Given the description of an element on the screen output the (x, y) to click on. 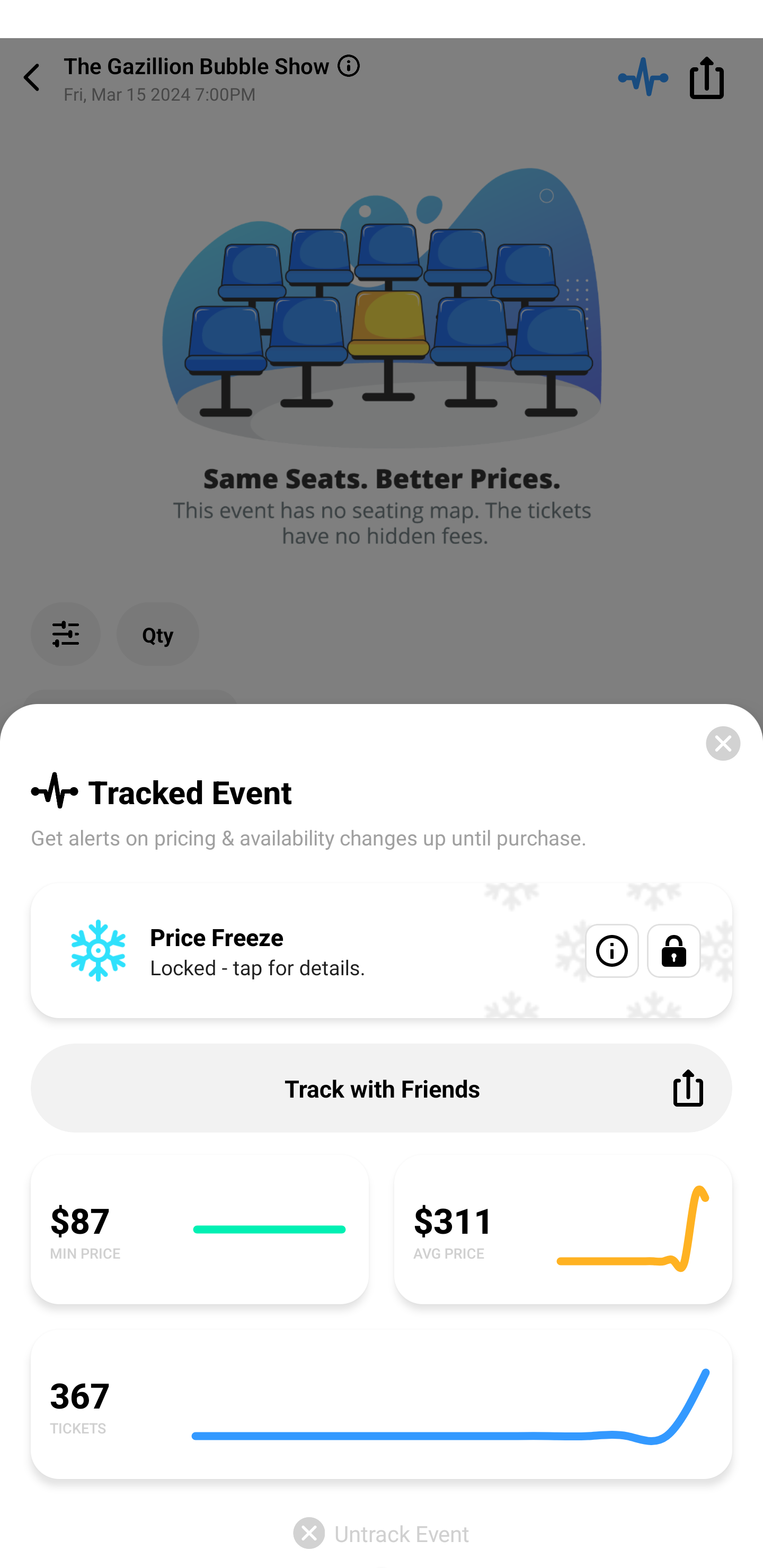
Track with Friends (381, 1088)
Untrack Event (381, 1533)
